Given the description of an element on the screen output the (x, y) to click on. 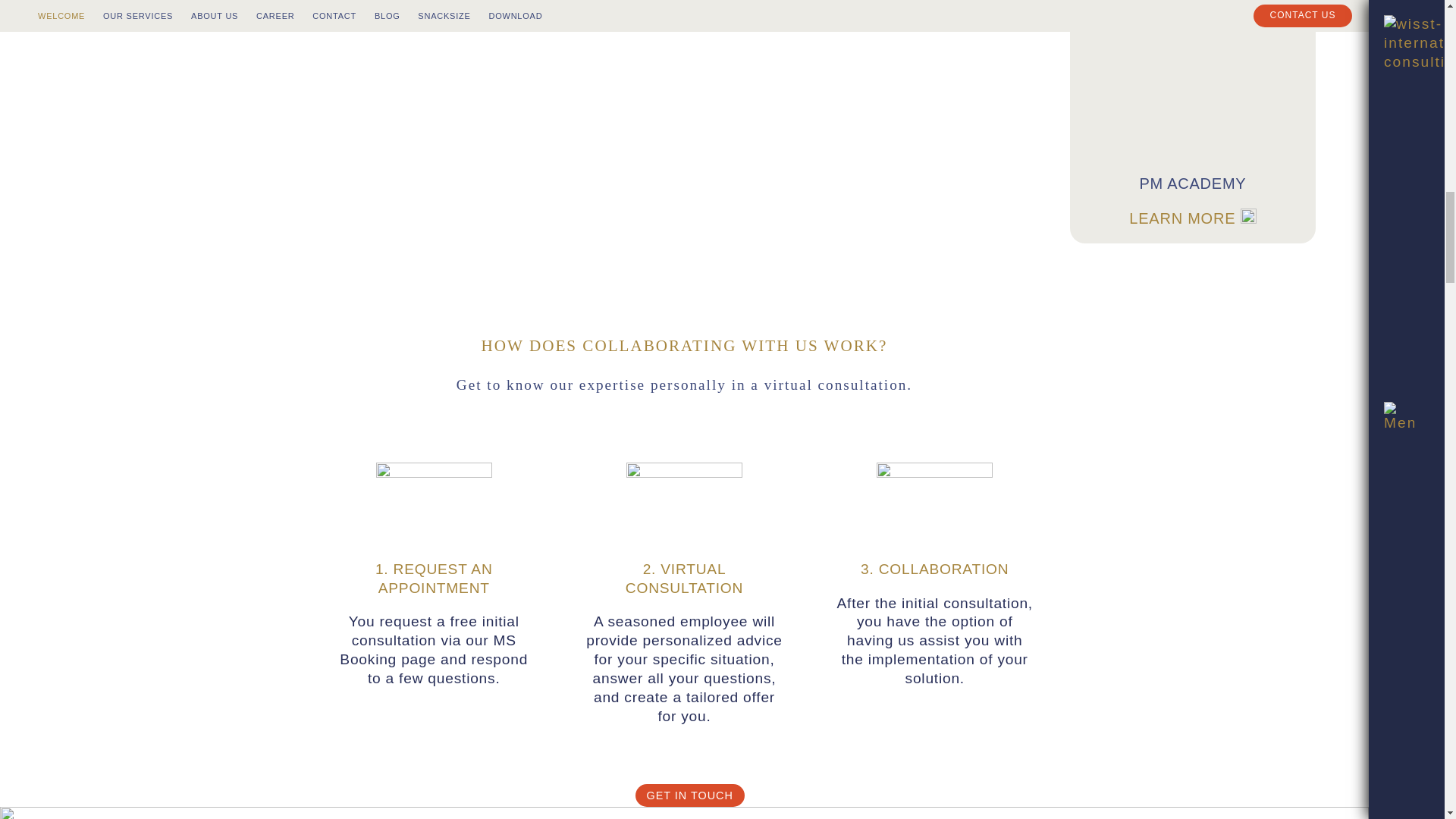
LEARN MORE (1192, 217)
GET IN TOUCH (689, 795)
Get in touch (689, 795)
LEARN MORE (849, 3)
